Given the description of an element on the screen output the (x, y) to click on. 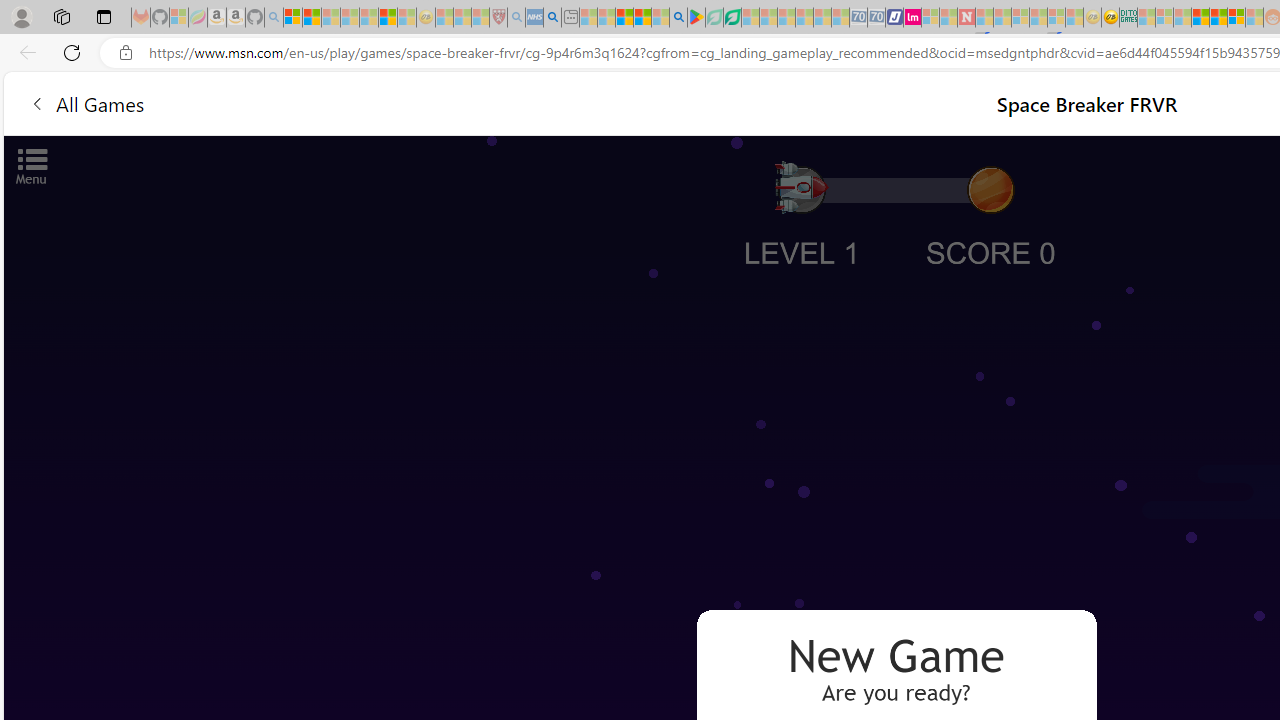
Bluey: Let's Play! - Apps on Google Play (696, 17)
All Games (380, 102)
Jobs - lastminute.com Investor Portal (912, 17)
